Given the description of an element on the screen output the (x, y) to click on. 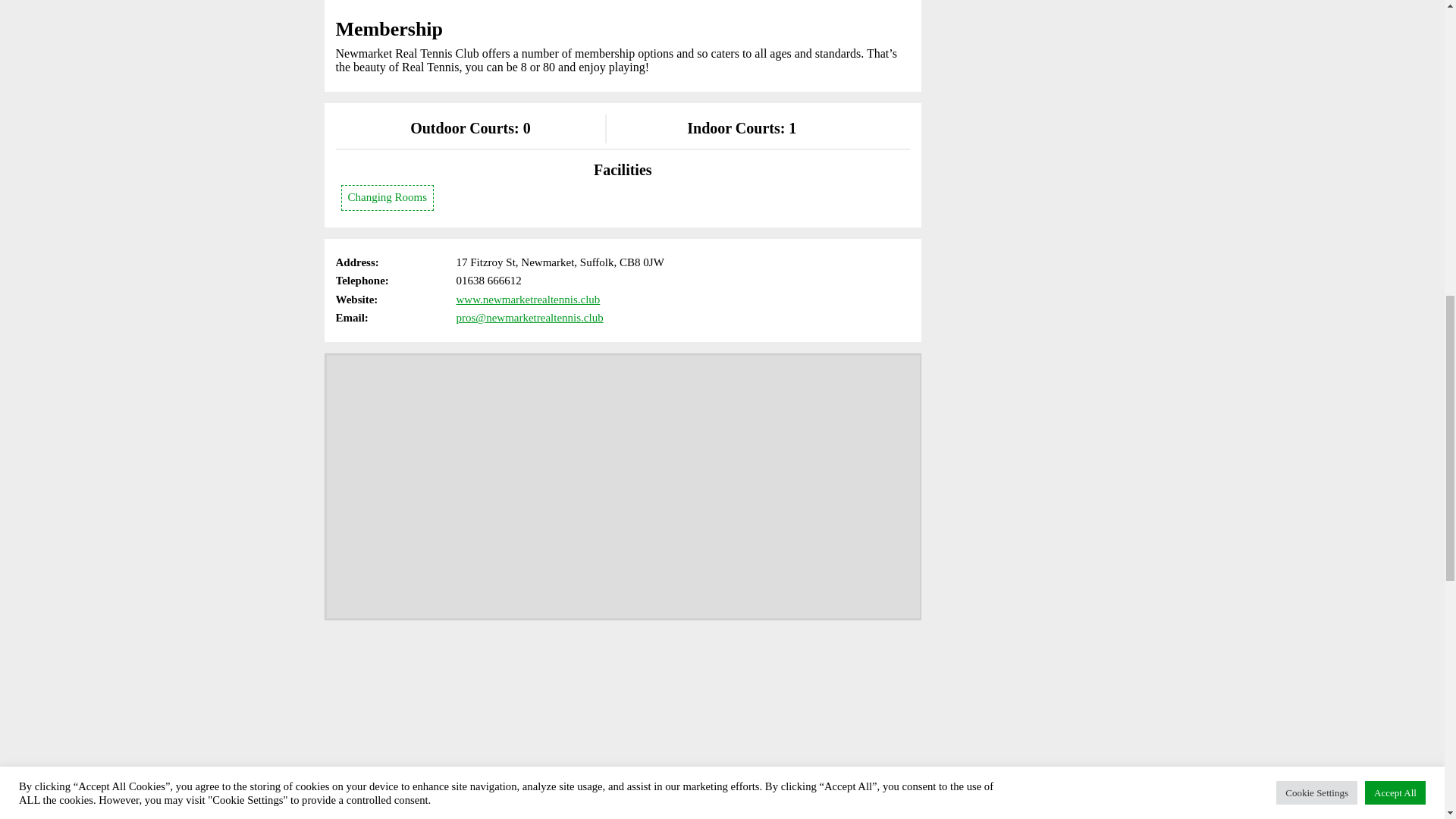
www.newmarketrealtennis.club (528, 299)
